Given the description of an element on the screen output the (x, y) to click on. 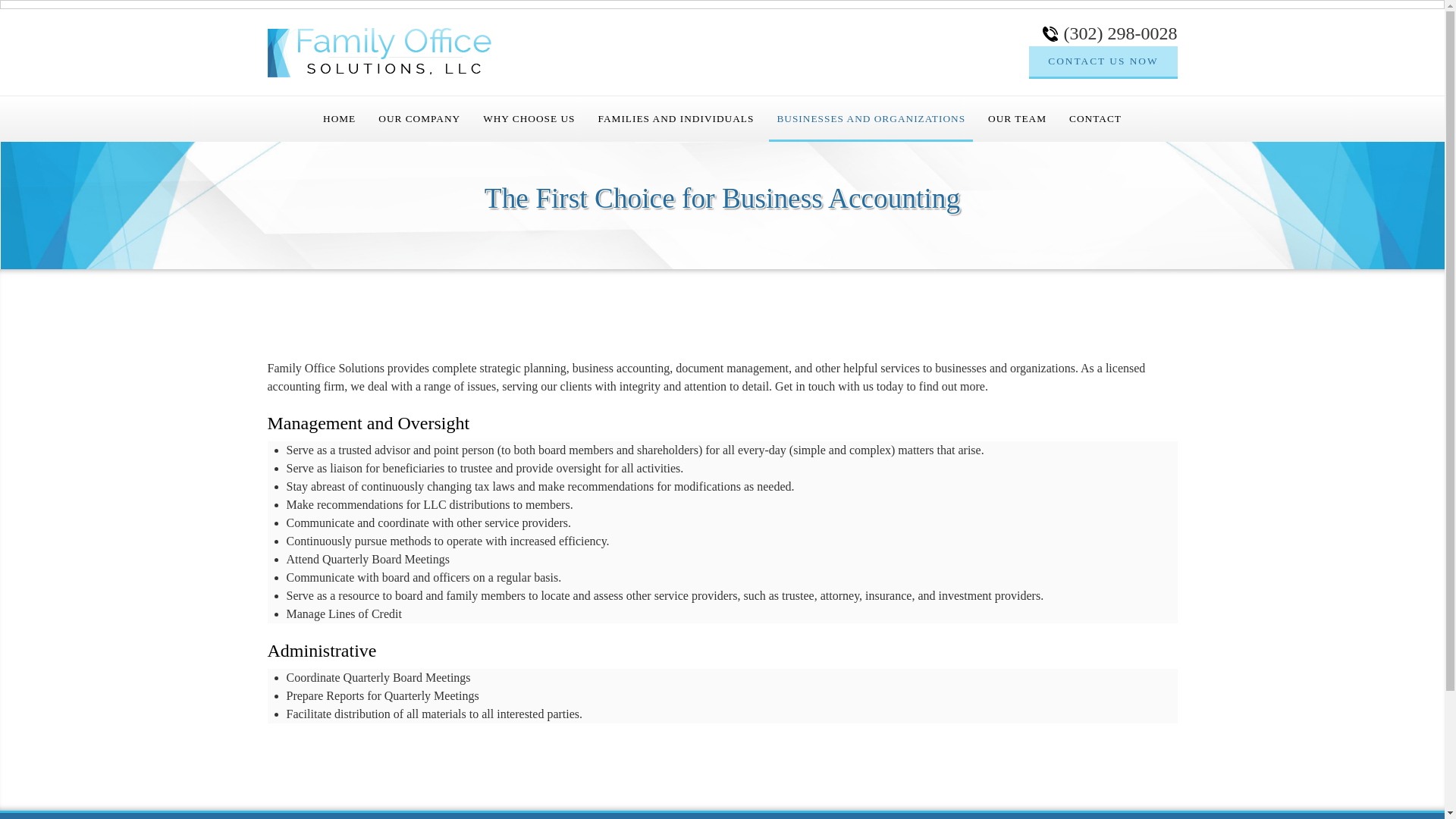
Family Office Solutions, LLC (378, 51)
WHY CHOOSE US (529, 118)
OUR COMPANY (419, 118)
CONTACT (1095, 118)
HOME (338, 118)
BUSINESSES AND ORGANIZATIONS (870, 118)
FAMILIES AND INDIVIDUALS (676, 118)
CONTACT US NOW (1102, 60)
OUR TEAM (1016, 118)
